Given the description of an element on the screen output the (x, y) to click on. 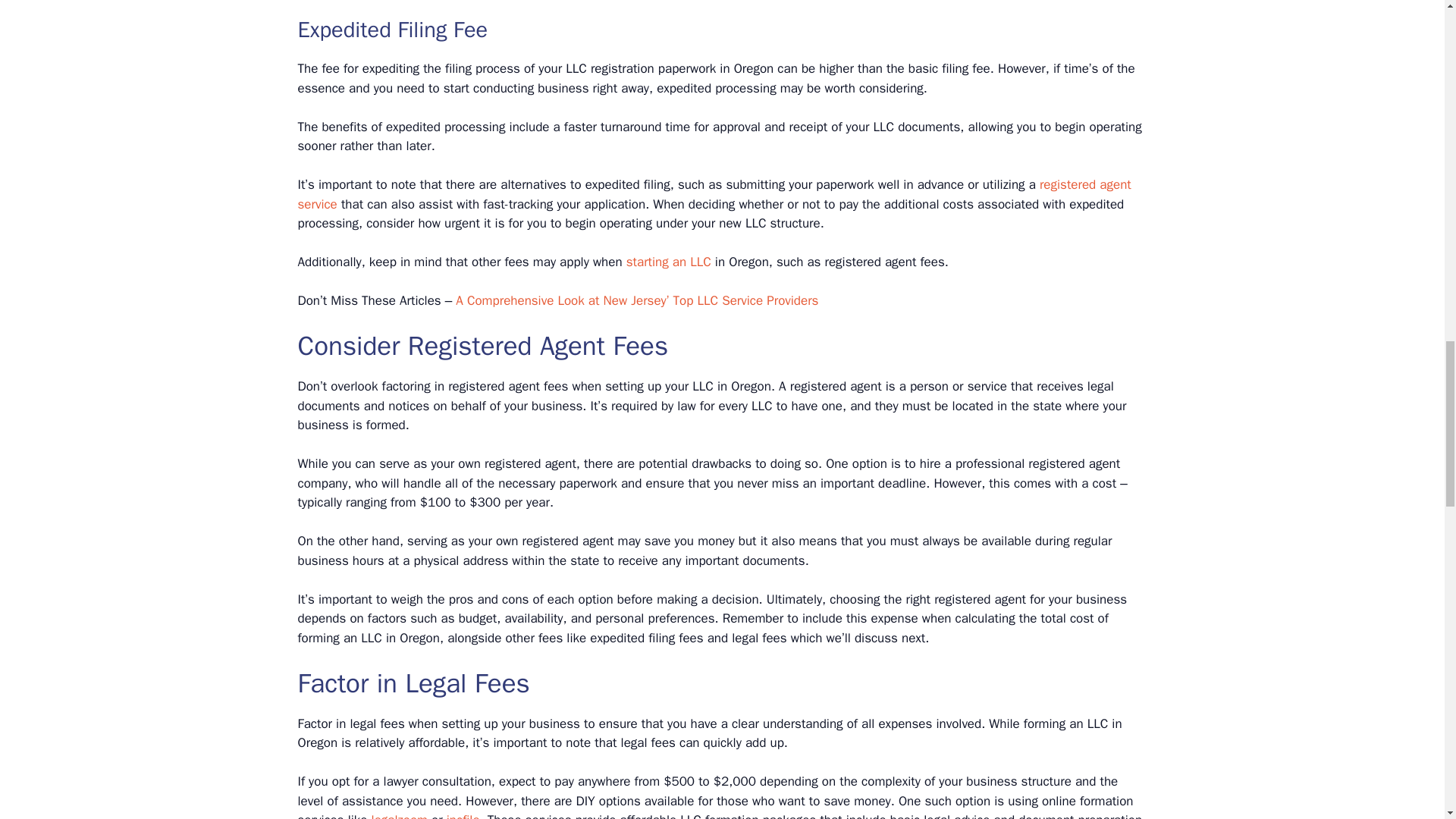
legalzoom (399, 815)
The Definitive Guide to Creating an LLC in 2023 (668, 261)
registered agent service (714, 194)
starting an LLC (668, 261)
incfile (463, 815)
2023's Best Registered Agent Services: What You Should Know (714, 194)
